Given the description of an element on the screen output the (x, y) to click on. 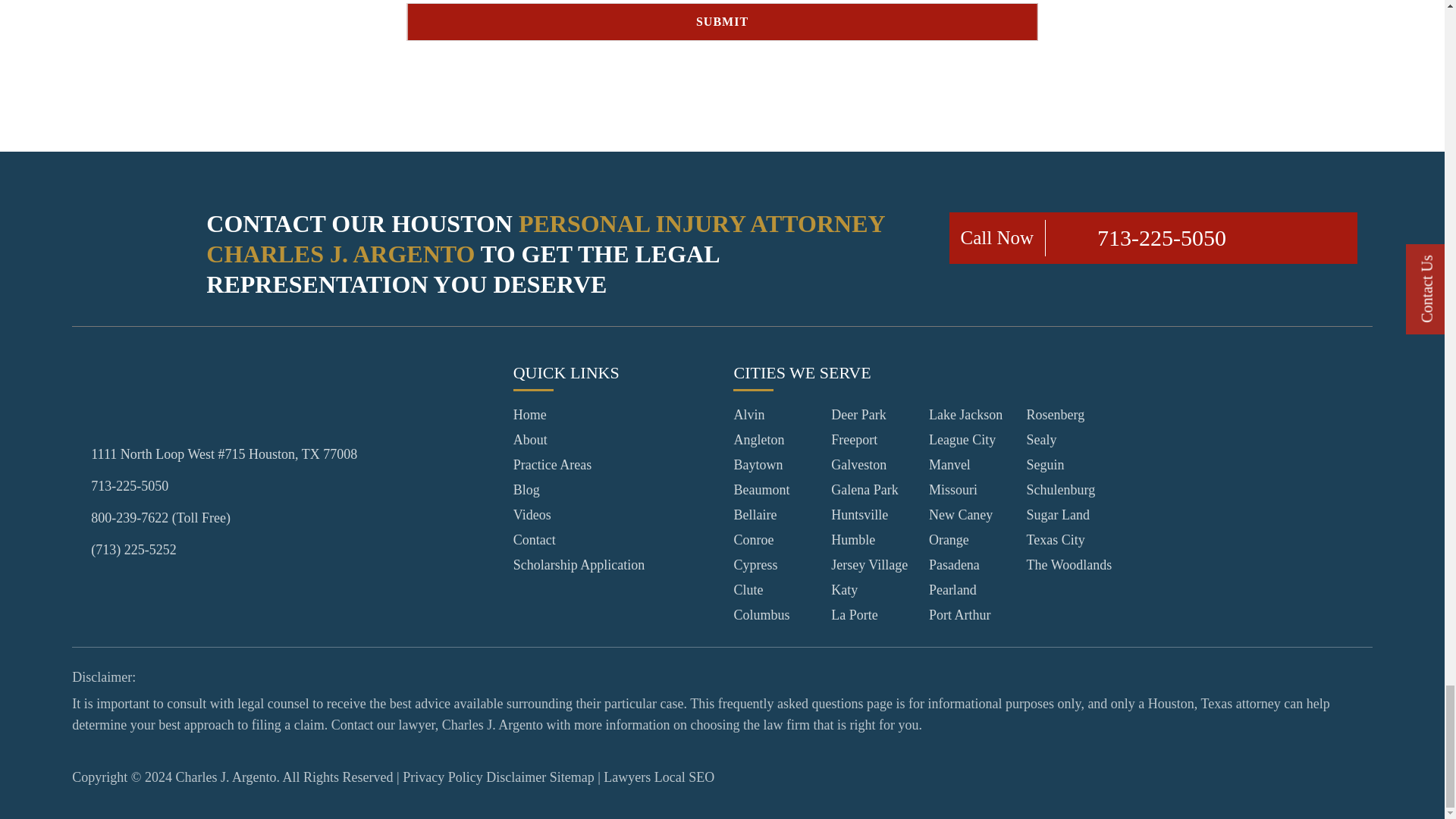
Submit (722, 21)
